Given the description of an element on the screen output the (x, y) to click on. 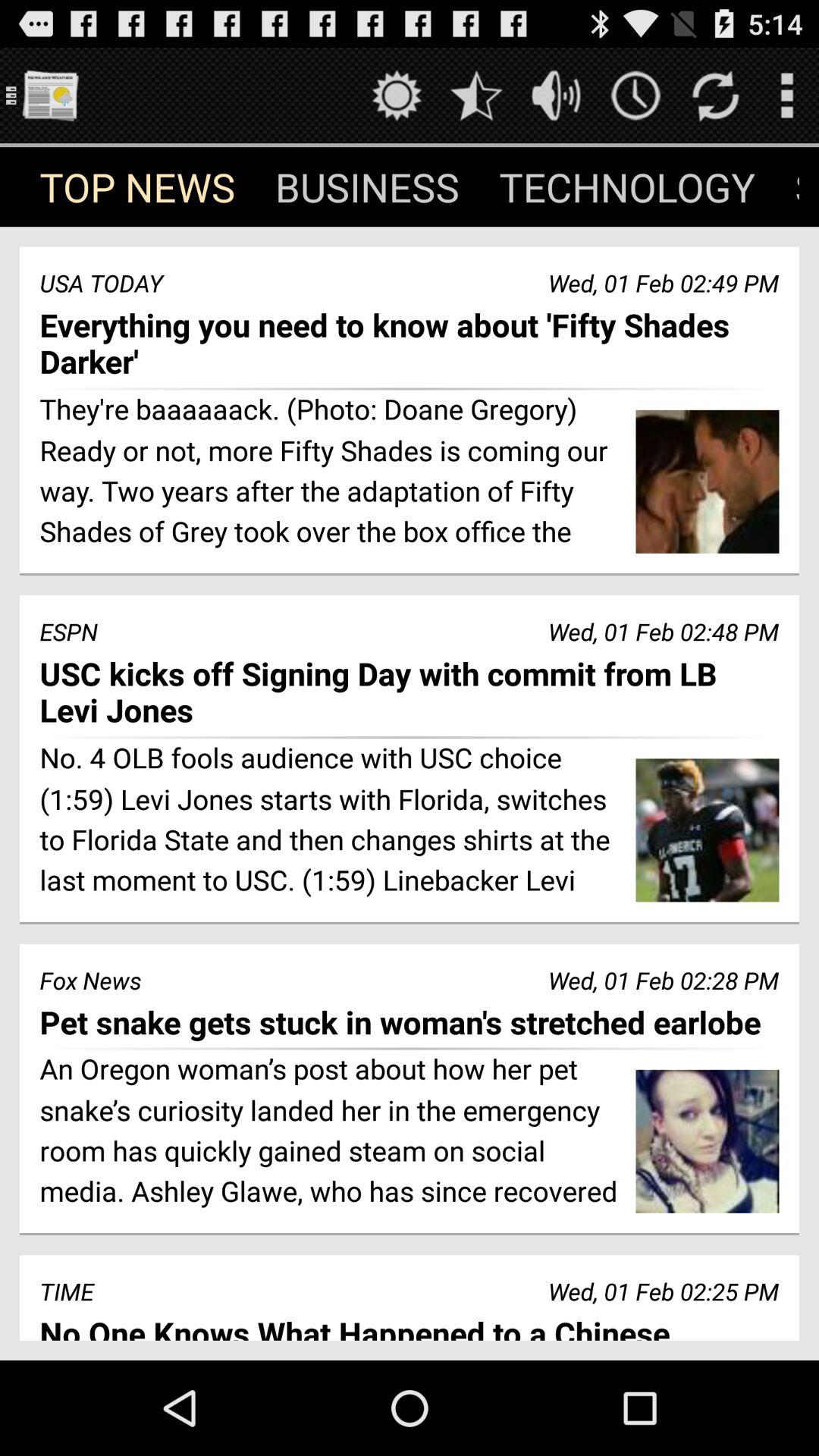
adjust sound (556, 95)
